Given the description of an element on the screen output the (x, y) to click on. 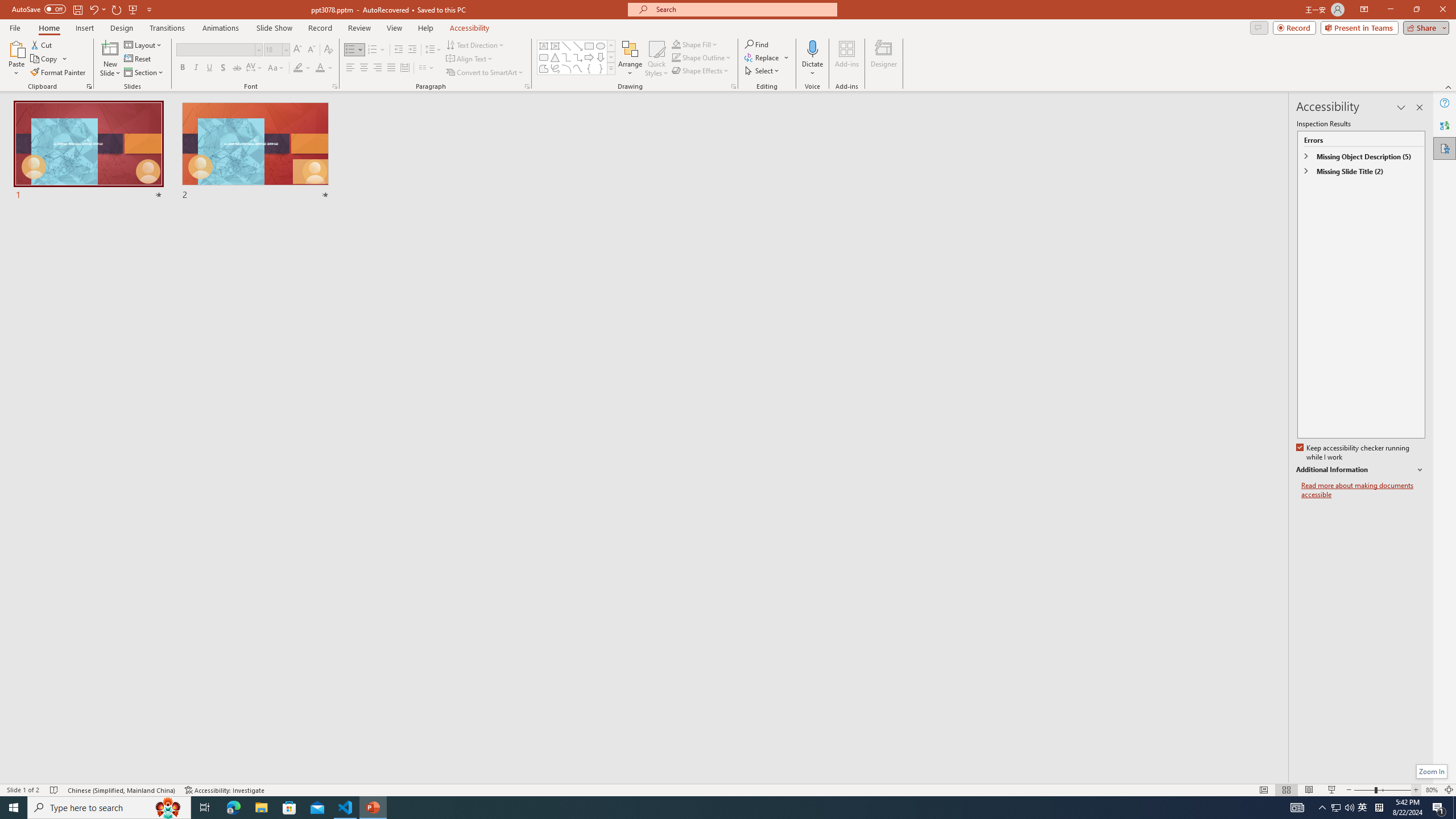
Shape Effects (700, 69)
